Given the description of an element on the screen output the (x, y) to click on. 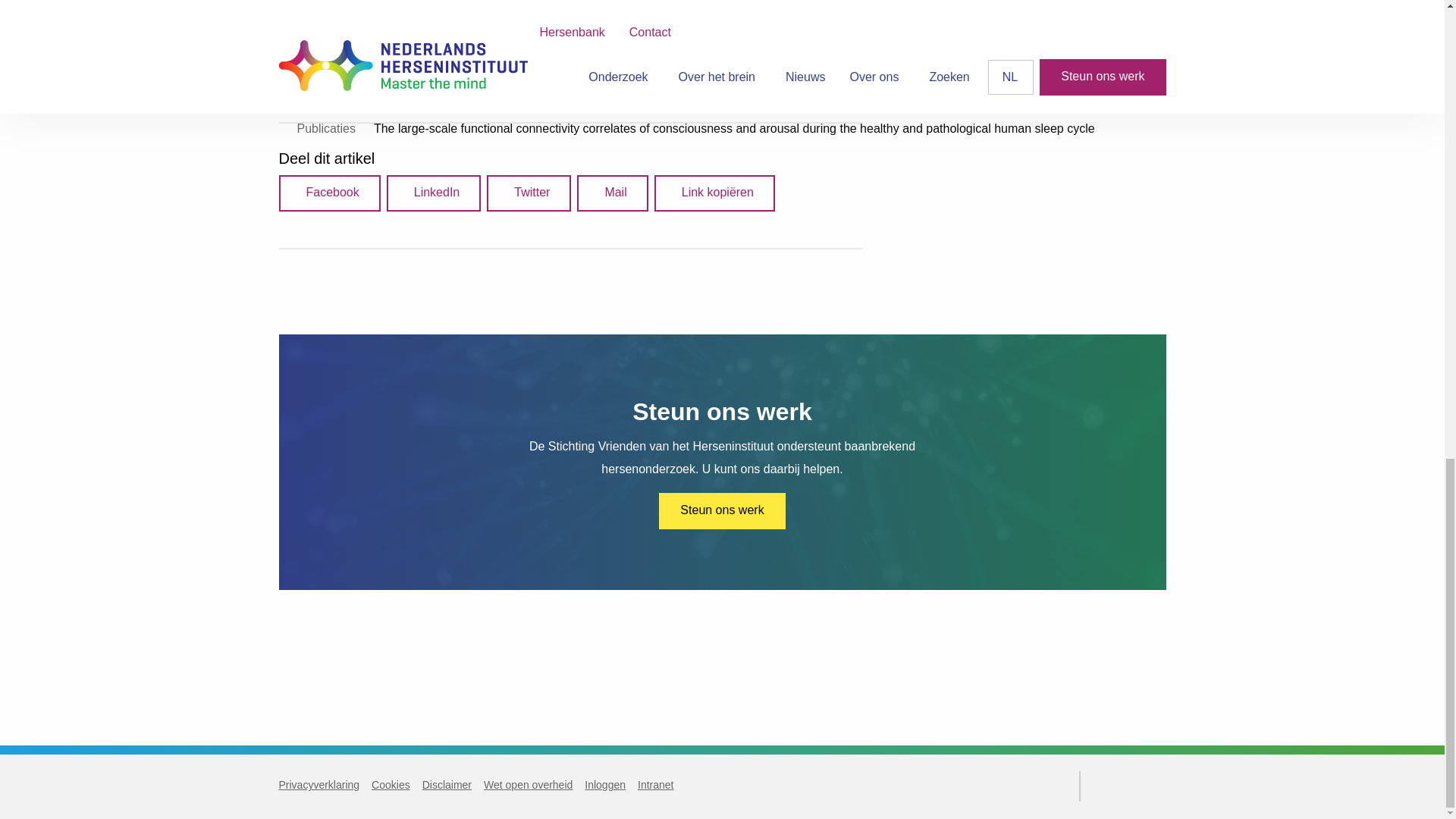
Tweet (528, 193)
Share via mail (611, 193)
Share on Facebook (329, 193)
Share link (713, 193)
Share on LinkedIn (434, 193)
